Given the description of an element on the screen output the (x, y) to click on. 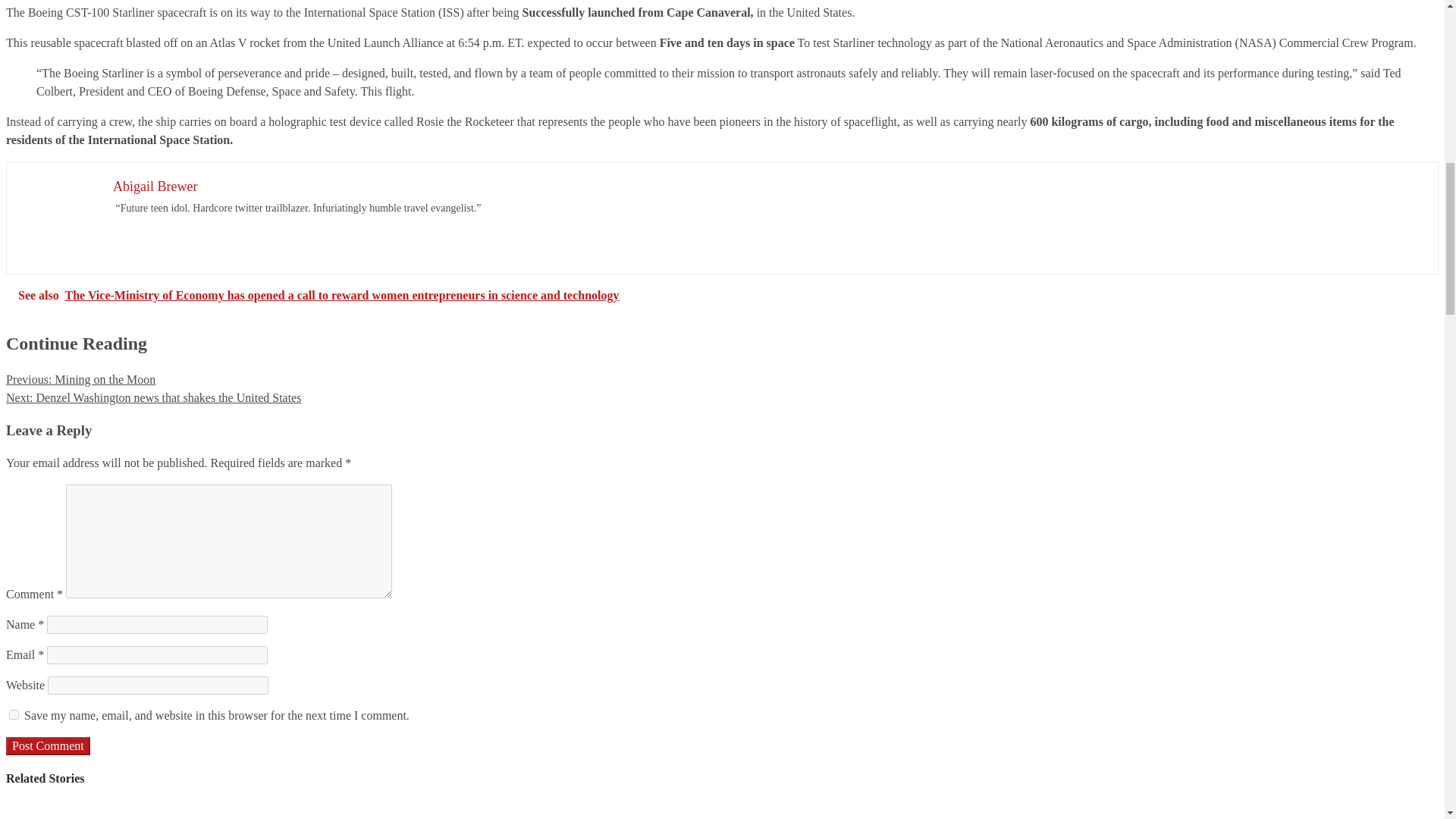
Next: Denzel Washington news that shakes the United States (153, 397)
Post Comment (47, 746)
Post Comment (47, 746)
yes (13, 714)
Abigail Brewer (154, 186)
Previous: Mining on the Moon (80, 379)
